Given the description of an element on the screen output the (x, y) to click on. 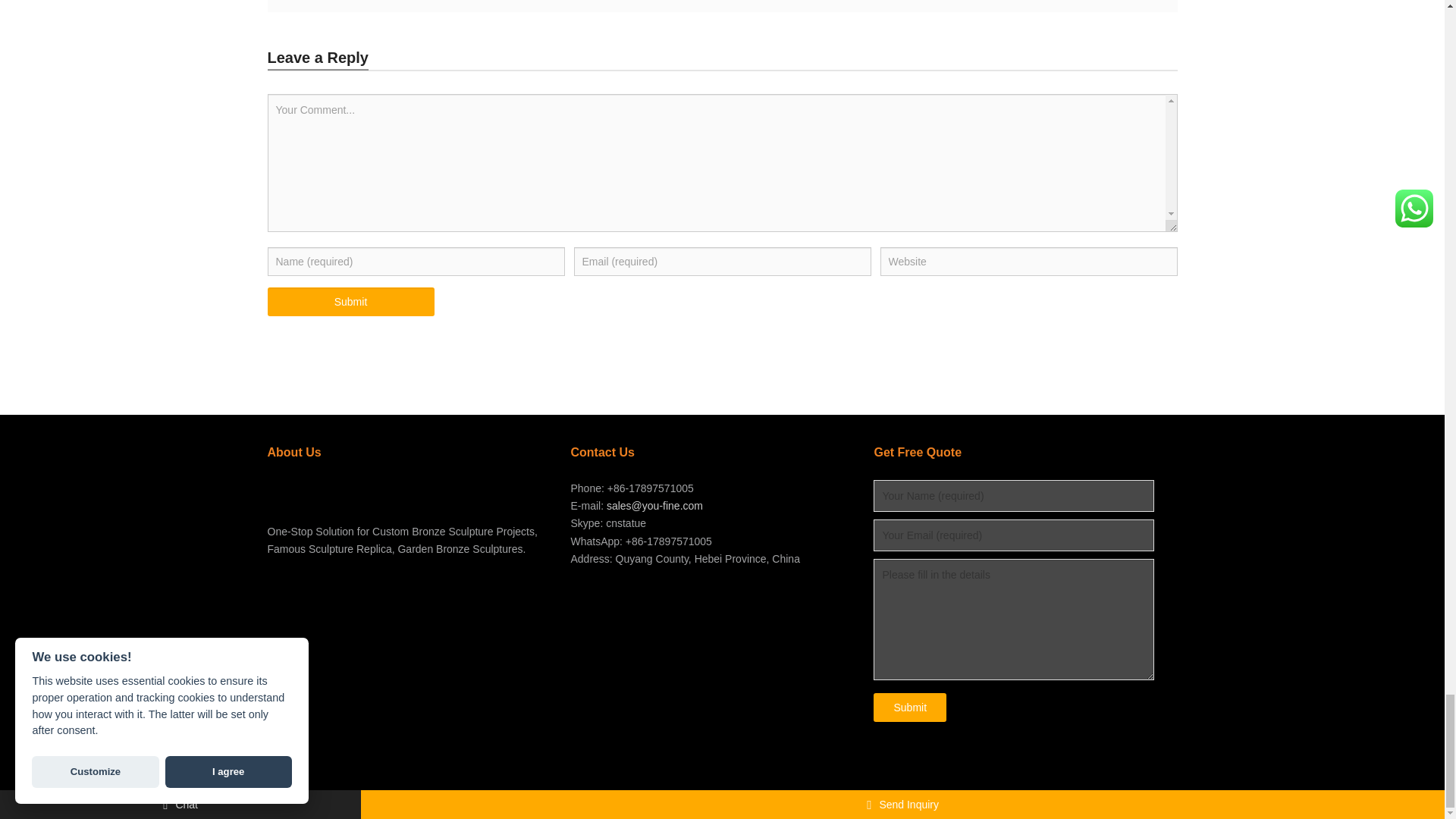
Submit (349, 301)
